Given the description of an element on the screen output the (x, y) to click on. 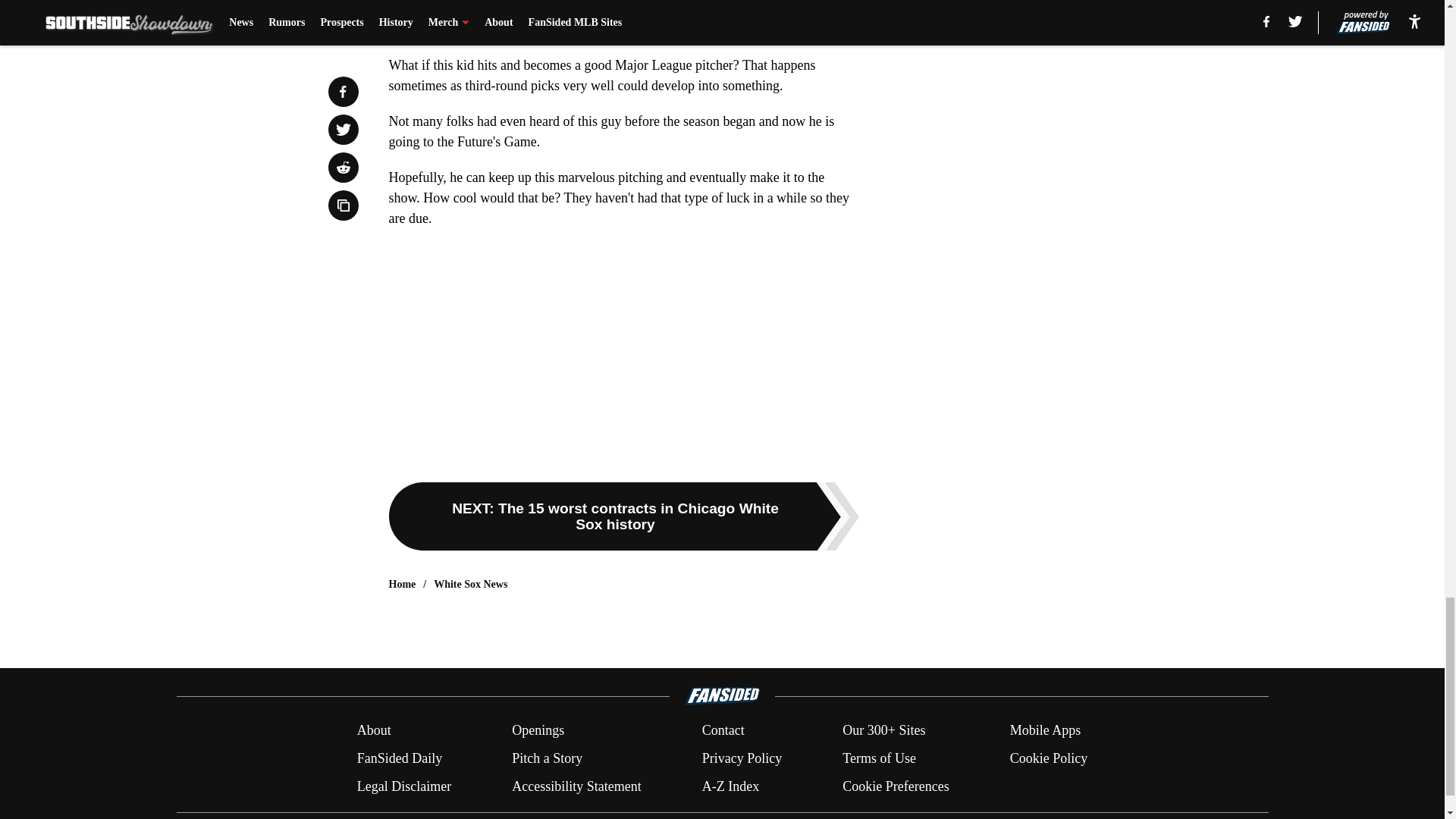
NEXT: The 15 worst contracts in Chicago White Sox history (623, 516)
Mobile Apps (1045, 730)
Privacy Policy (742, 758)
Home (401, 584)
Terms of Use (879, 758)
Pitch a Story (547, 758)
White Sox News (469, 584)
Contact (722, 730)
About (373, 730)
FanSided Daily (399, 758)
